Given the description of an element on the screen output the (x, y) to click on. 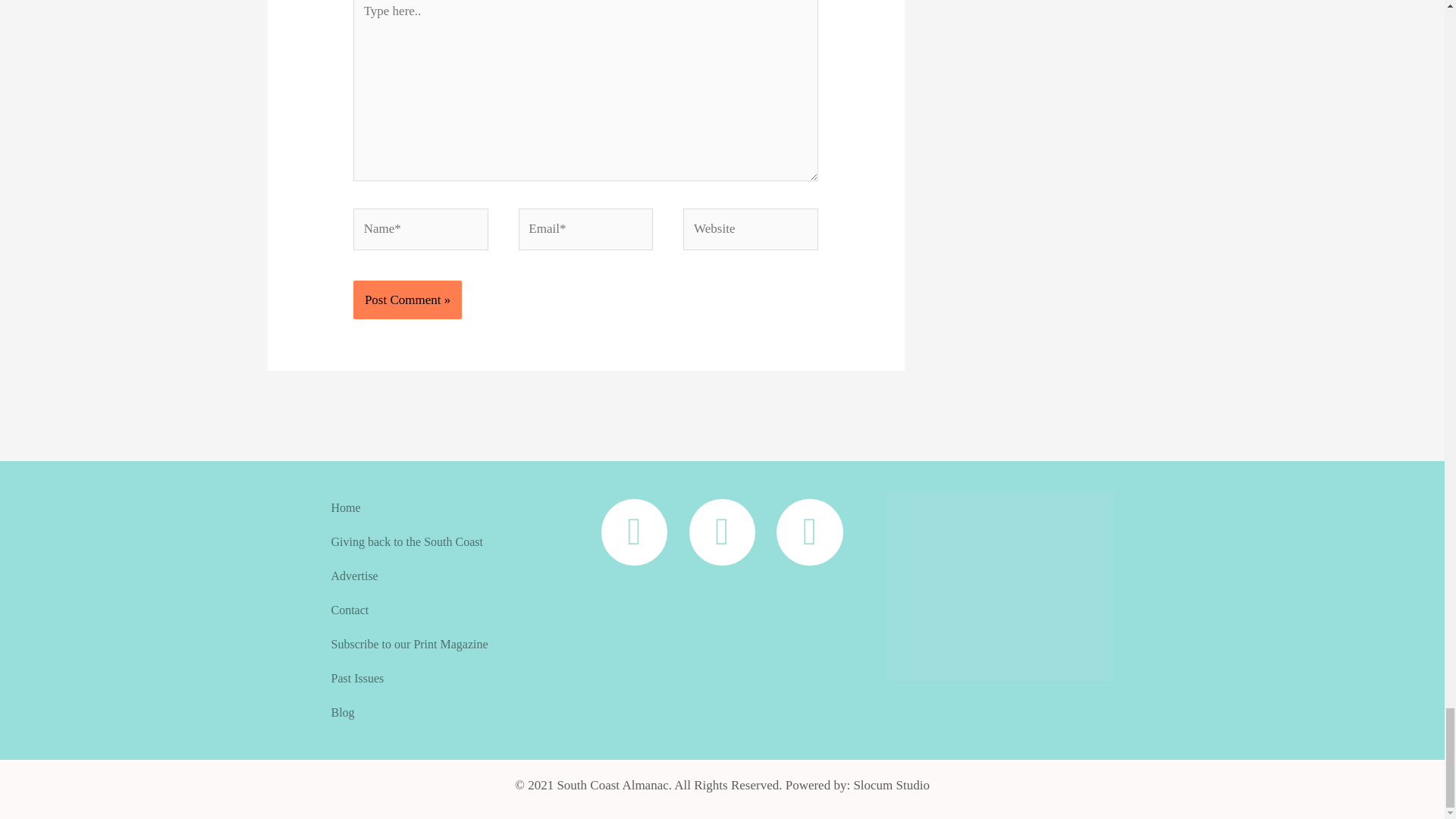
buzzards-bay-300-x-250-v3 (999, 585)
